Given the description of an element on the screen output the (x, y) to click on. 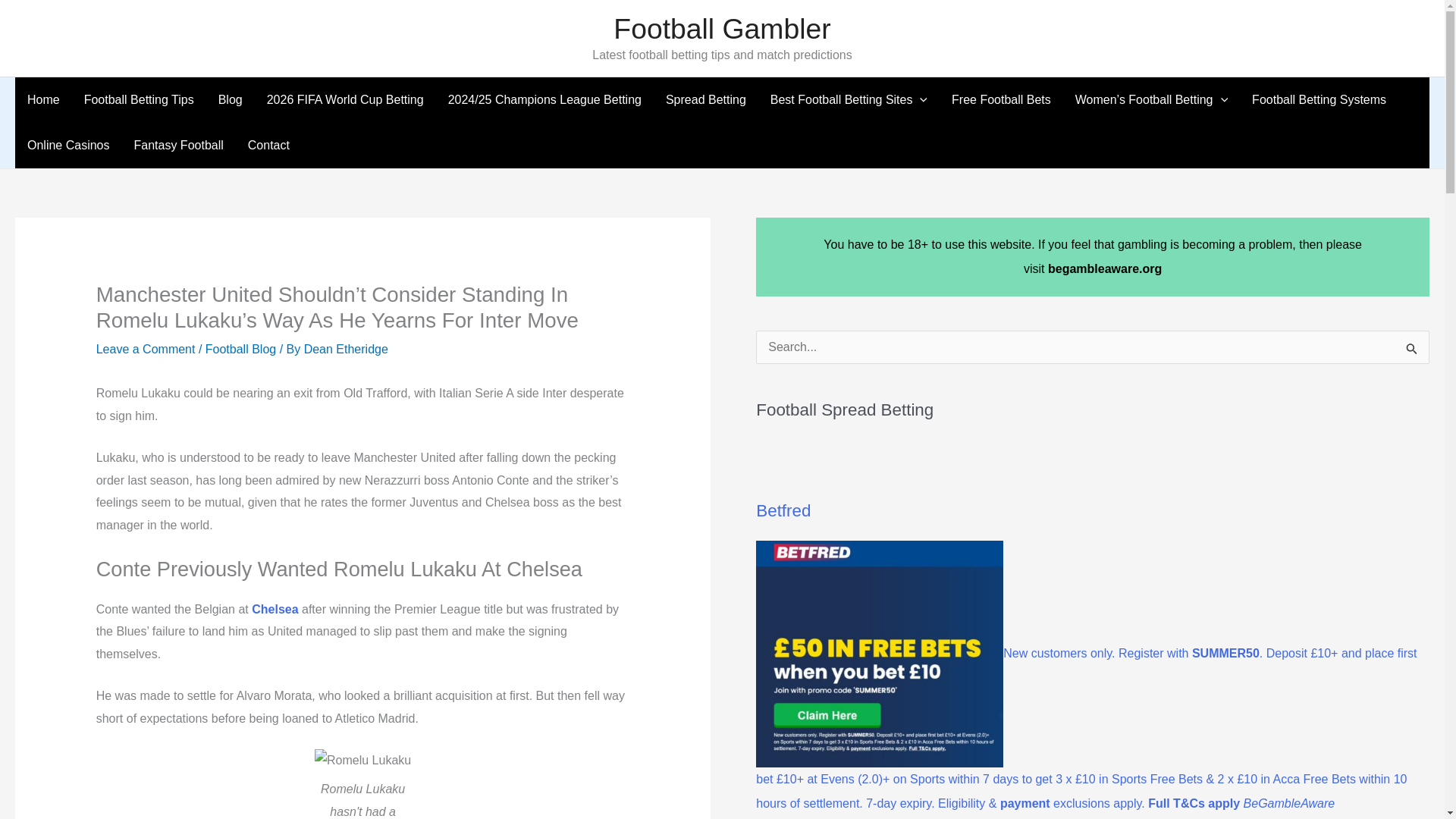
Betfred Welcome Bonus (879, 653)
Online Casinos (68, 145)
Blog (230, 99)
Home (42, 99)
Football Betting Tips (138, 99)
Best Football Betting Sites (848, 99)
Football Betting Systems (1318, 99)
Spread Betting (705, 99)
2026 FIFA World Cup Betting (344, 99)
Football Gambler (720, 29)
